Given the description of an element on the screen output the (x, y) to click on. 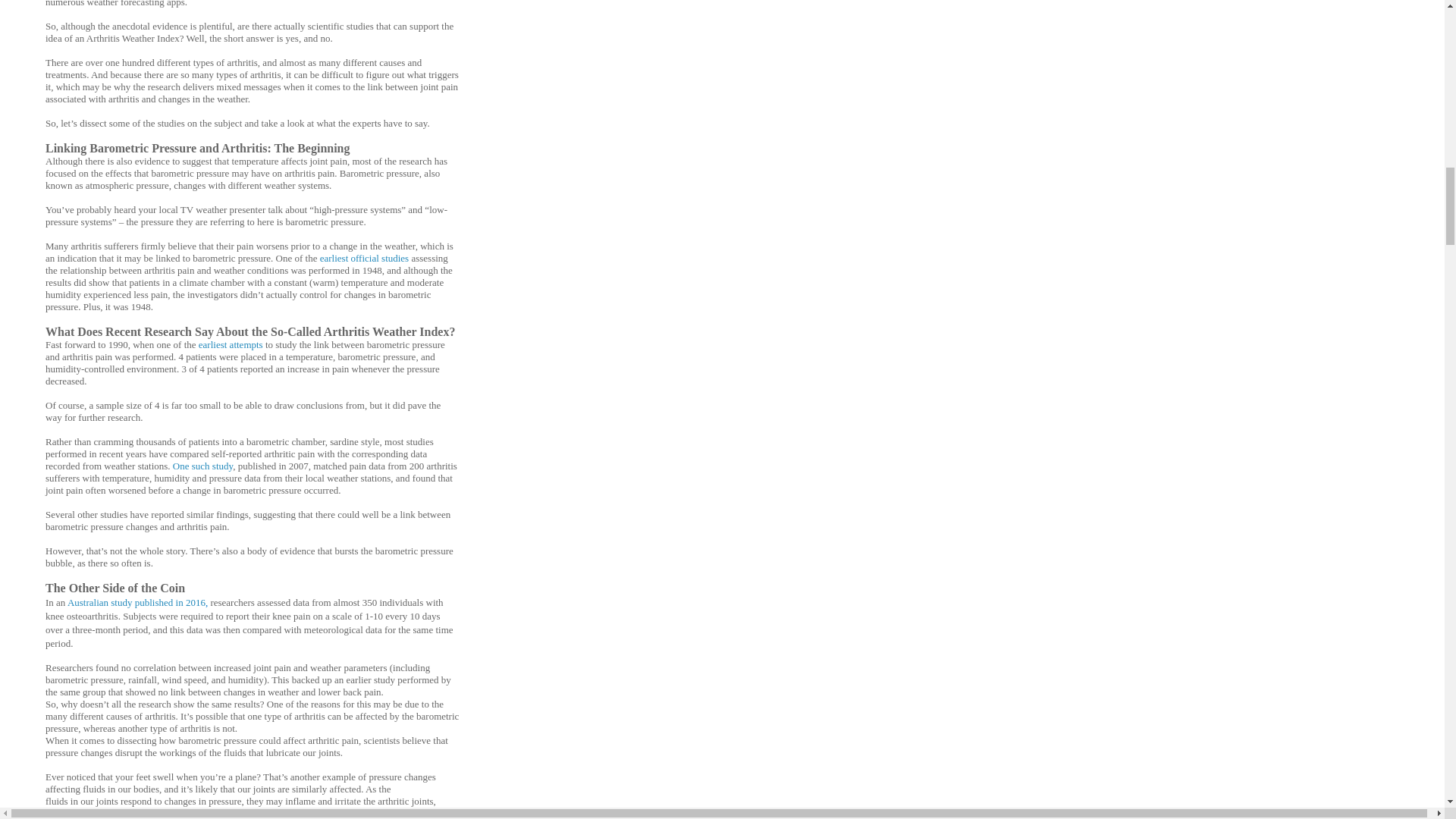
Australian study published in 2016 (135, 602)
earliest official studies (364, 257)
One such study (202, 465)
earliest attempts (230, 344)
